Given the description of an element on the screen output the (x, y) to click on. 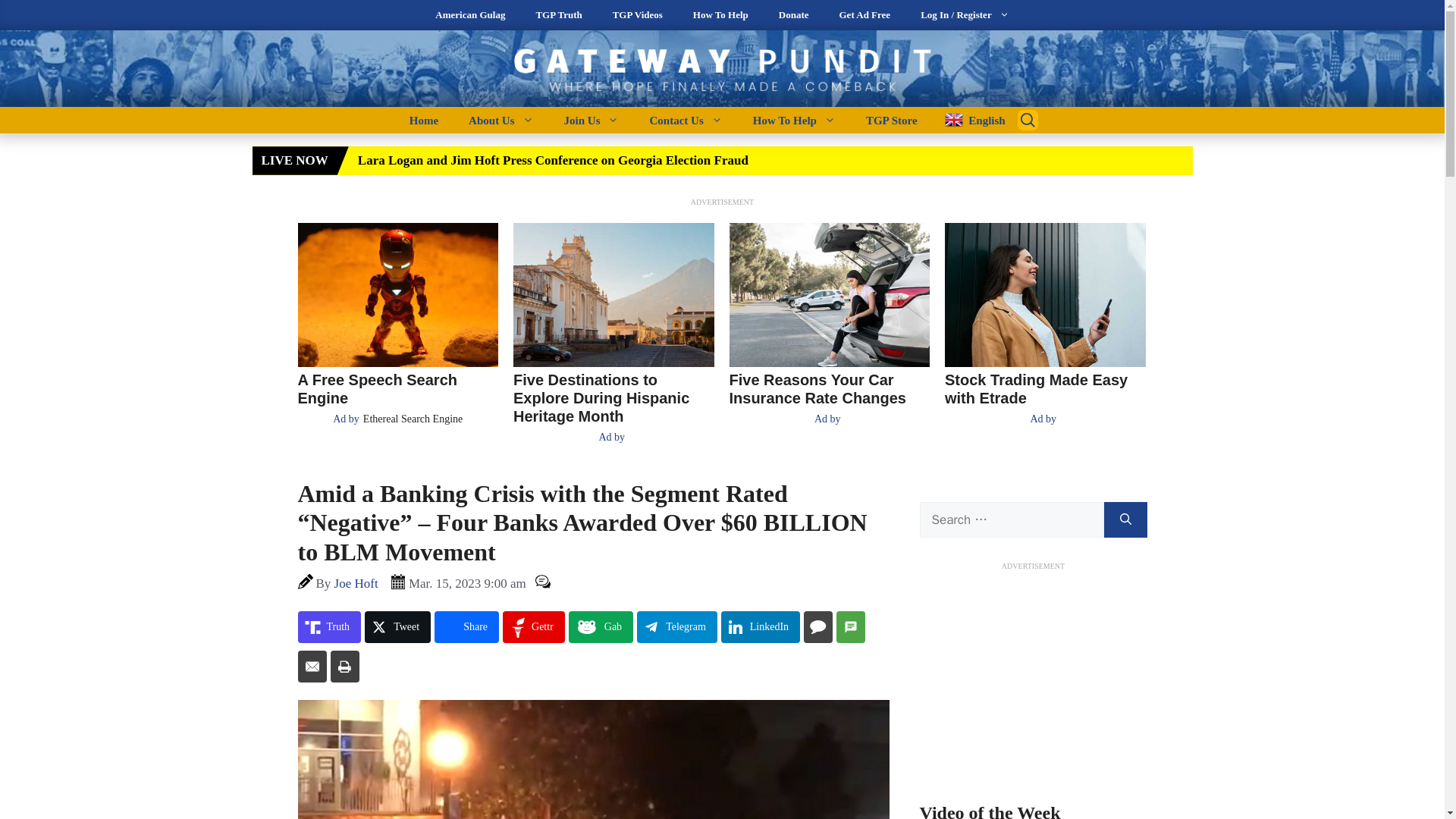
How To Help (720, 15)
Donate (793, 15)
Contact Us (684, 120)
How To Help (794, 120)
American Gulag (469, 15)
Share on Telegram (677, 626)
Share on Gab (601, 626)
Share on Gettr (533, 626)
Join Us (591, 120)
About Us (500, 120)
English (969, 120)
Get Ad Free (864, 15)
View all posts by Joe Hoft (356, 583)
TGP Truth (557, 15)
Share on Truth (329, 626)
